Given the description of an element on the screen output the (x, y) to click on. 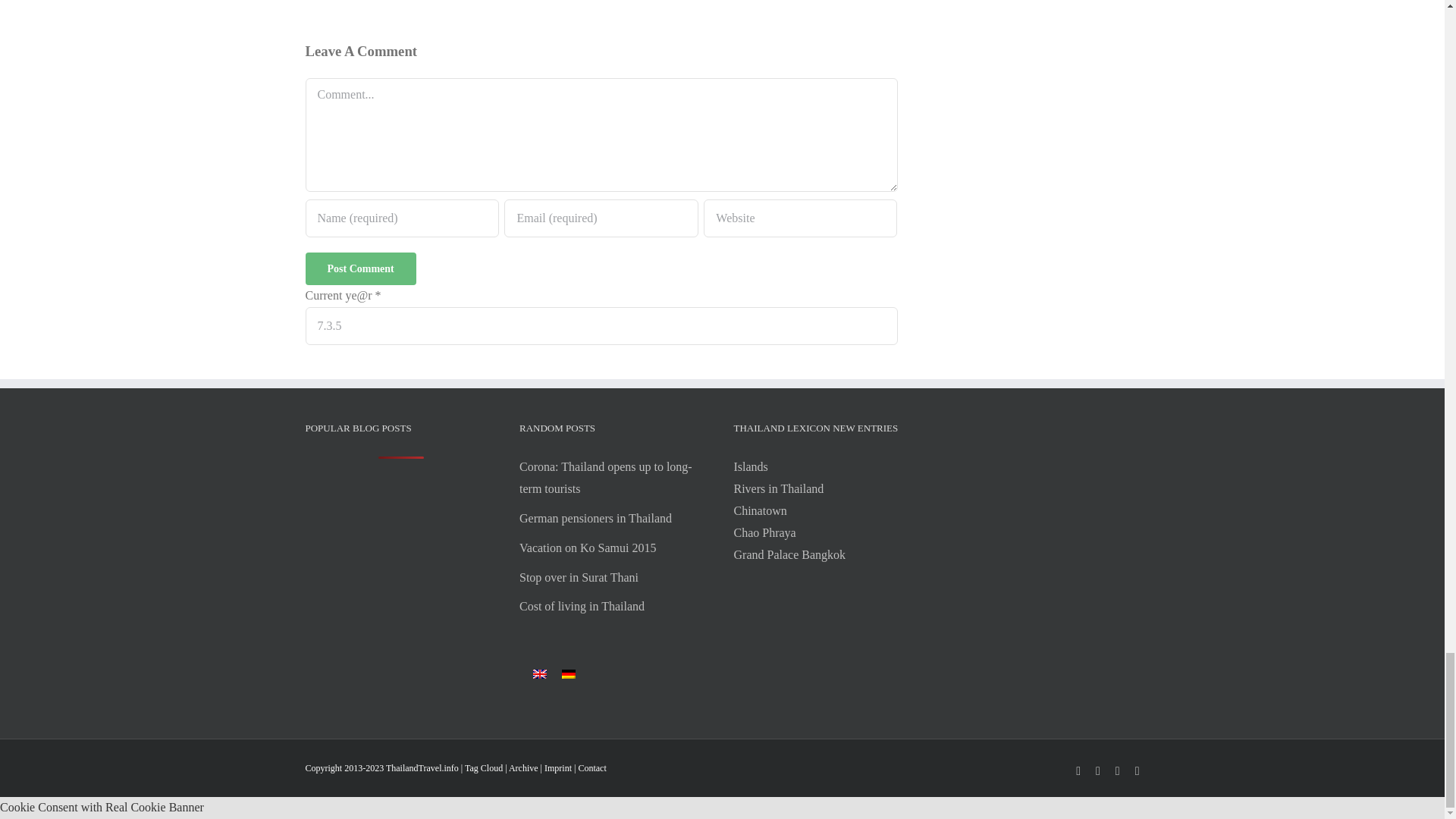
Post Comment (359, 268)
7.3.5 (600, 325)
